Given the description of an element on the screen output the (x, y) to click on. 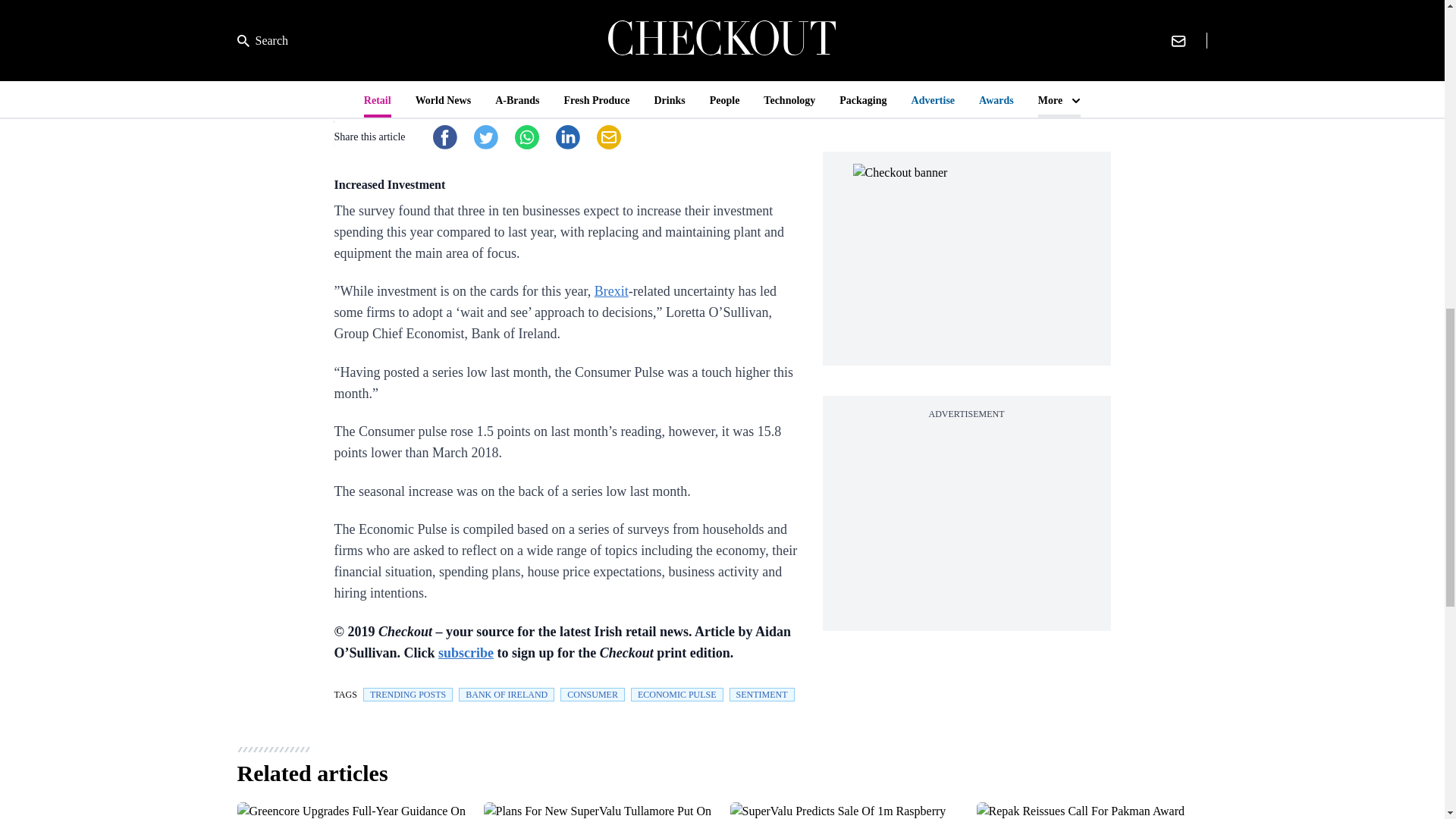
Brexit (611, 290)
